Given the description of an element on the screen output the (x, y) to click on. 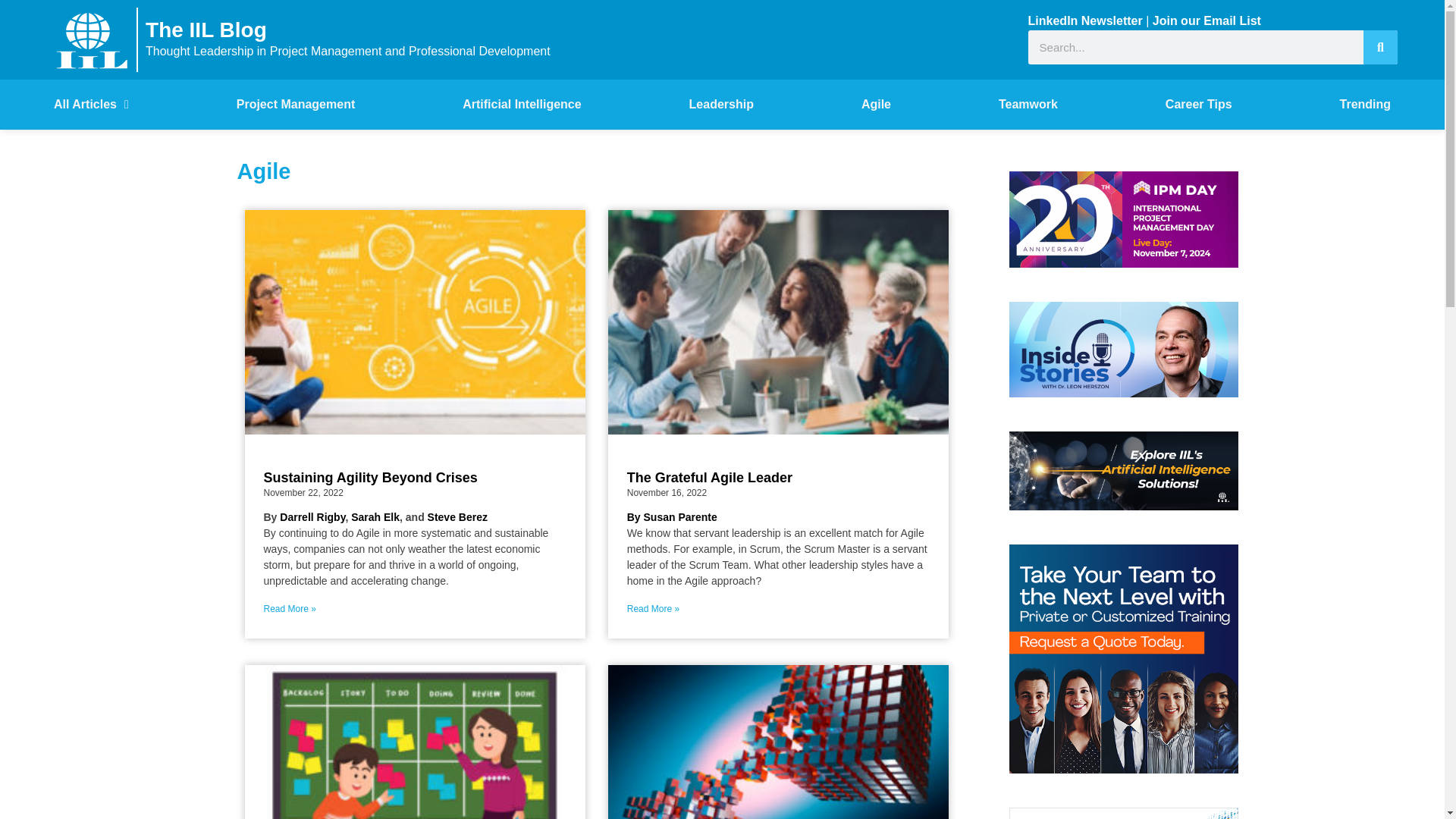
The Grateful Agile Leader (709, 477)
The IIL Blog (205, 29)
Artificial Intelligence (521, 104)
Join our Email List (1206, 20)
LinkedIn Newsletter (1084, 20)
Agile (876, 104)
Steve Berez (457, 517)
Sustaining Agility Beyond Crises (370, 477)
Teamwork (1028, 104)
Project Management (296, 104)
By Susan Parente (672, 517)
All Articles (91, 104)
Search (1379, 47)
Career Tips (1198, 104)
